Given the description of an element on the screen output the (x, y) to click on. 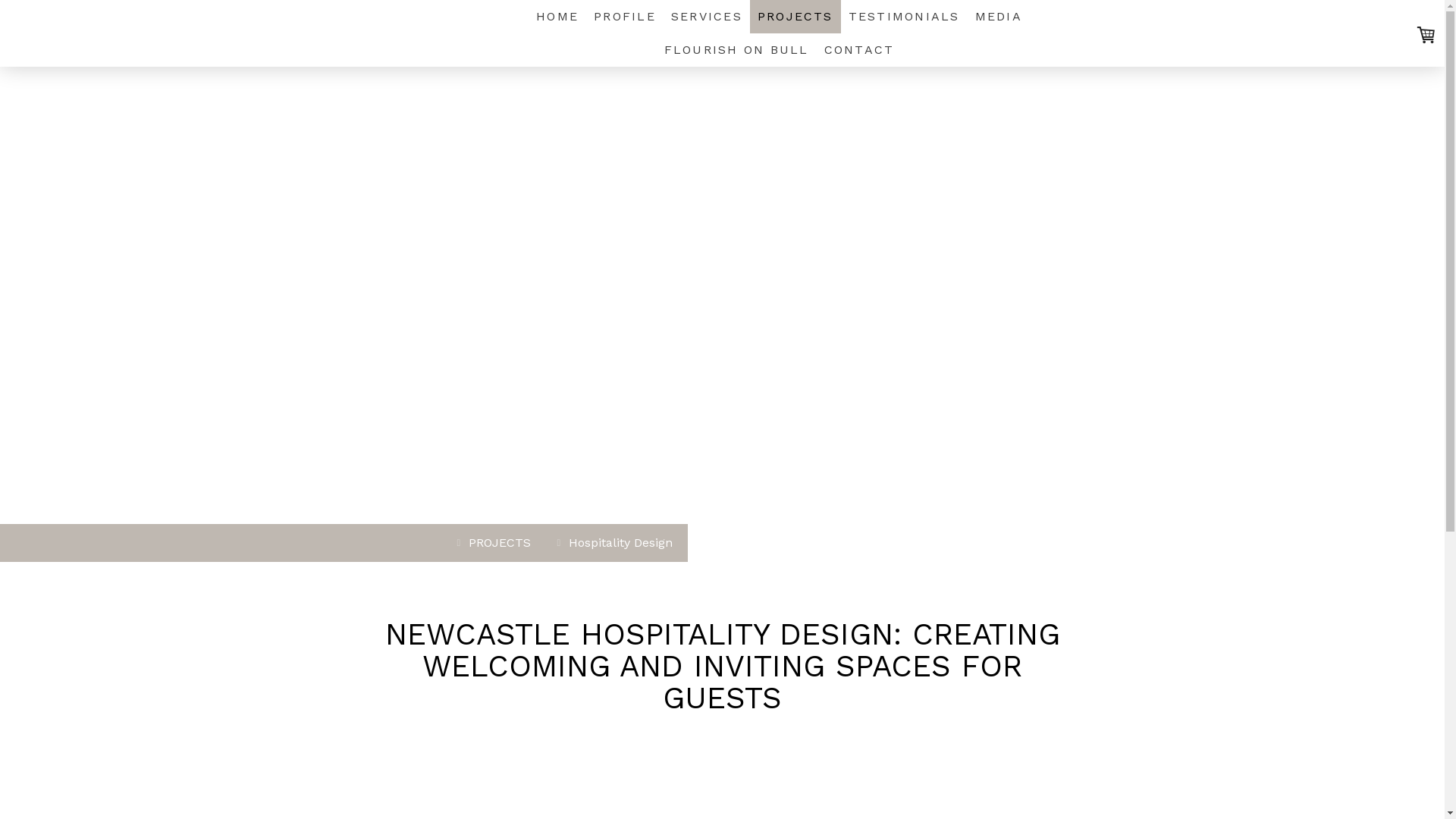
CONTACT Element type: text (859, 49)
Hospitality Design Element type: text (616, 542)
FLOURISH ON BULL Element type: text (736, 49)
HOME Element type: text (557, 16)
PROFILE Element type: text (624, 16)
MEDIA Element type: text (998, 16)
PROJECTS Element type: text (794, 16)
SERVICES Element type: text (706, 16)
PROJECTS Element type: text (495, 542)
TESTIMONIALS Element type: text (903, 16)
